Given the description of an element on the screen output the (x, y) to click on. 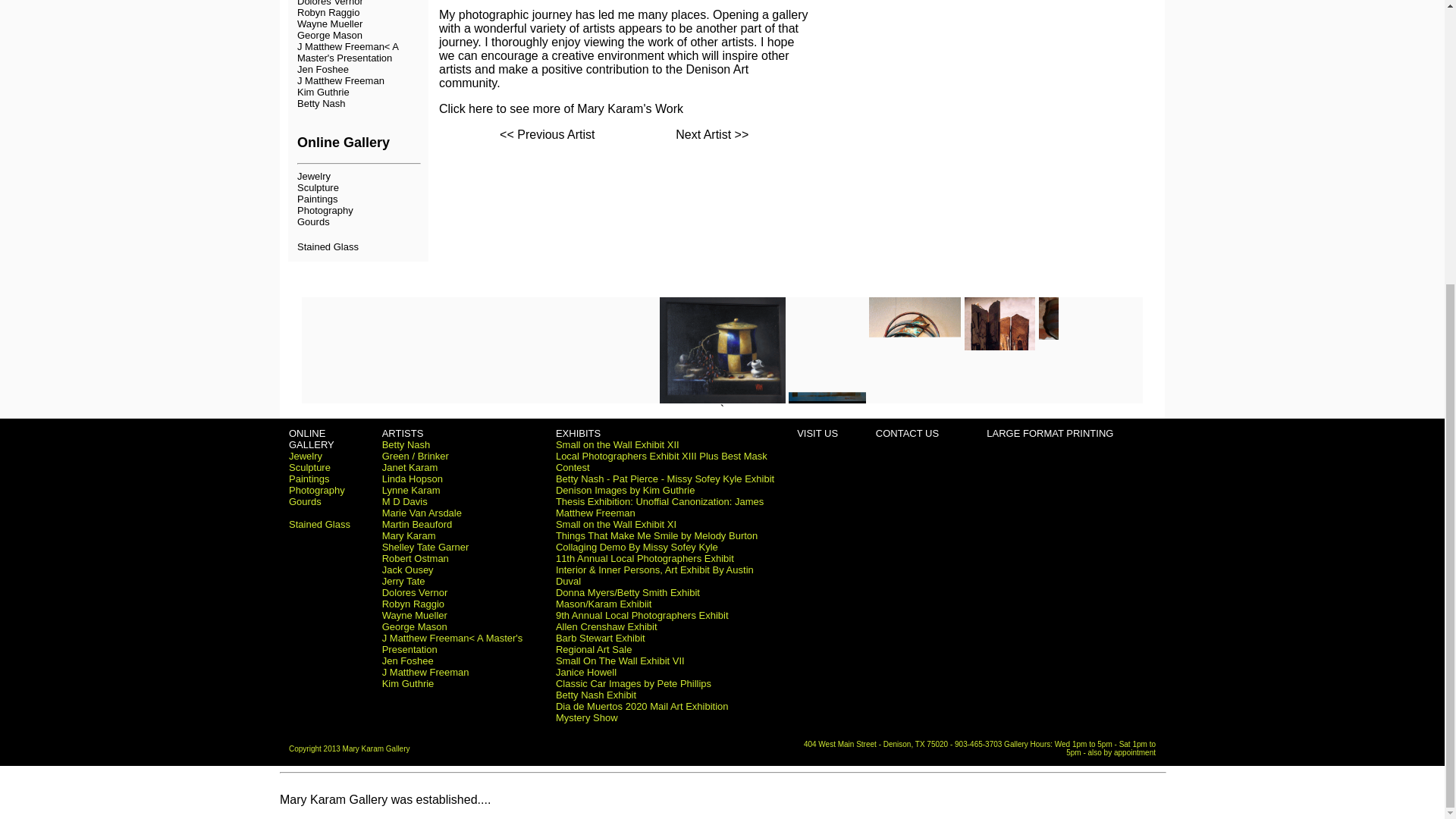
Jen Foshee (323, 69)
Paintings (317, 198)
Stained Glass (327, 246)
Jewelry (313, 175)
Dolores Vernor (329, 3)
Kim Guthrie (323, 91)
Photography (325, 210)
Gourds (313, 221)
J Matthew Freeman (340, 80)
Robyn Raggio (328, 12)
